Given the description of an element on the screen output the (x, y) to click on. 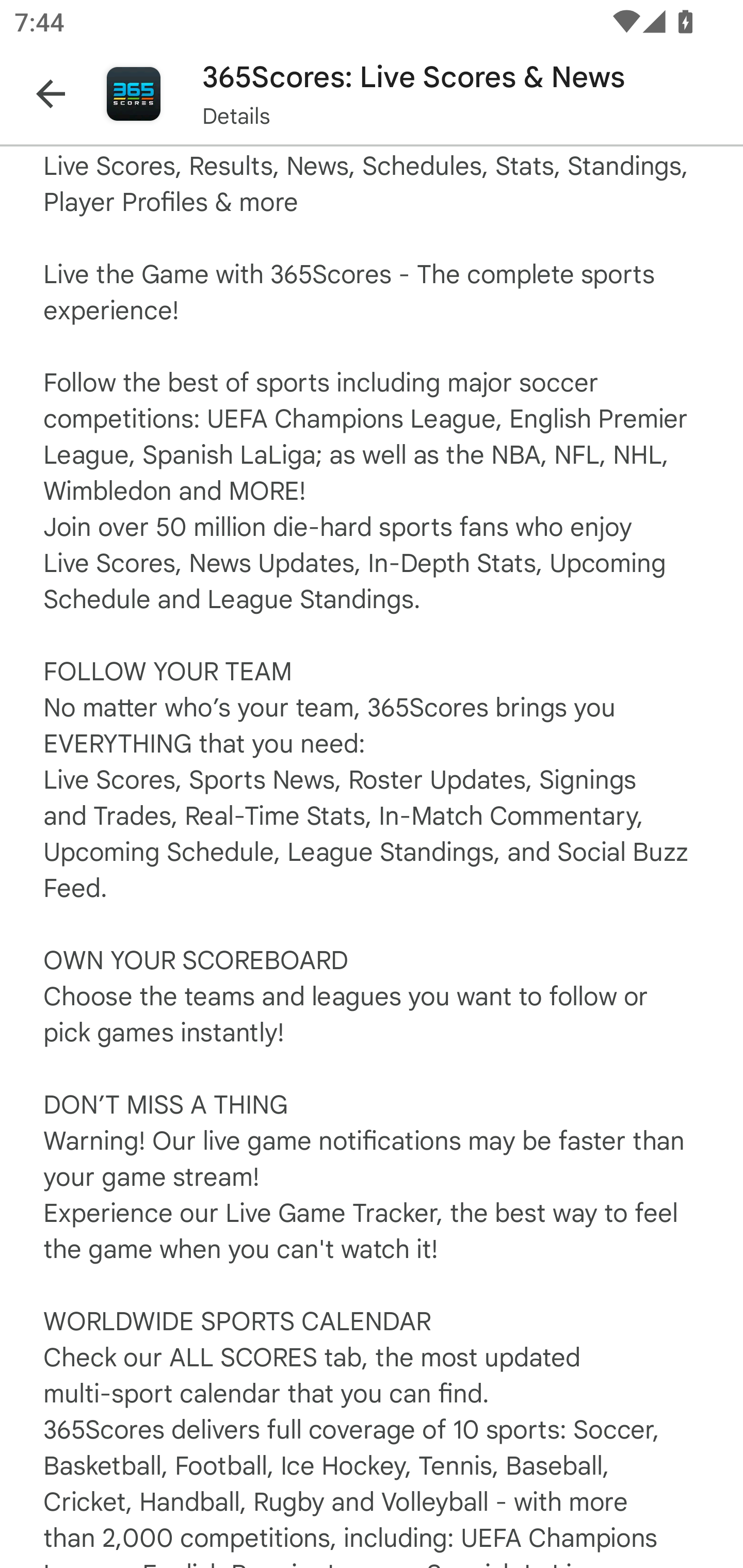
Navigate up (50, 93)
